Given the description of an element on the screen output the (x, y) to click on. 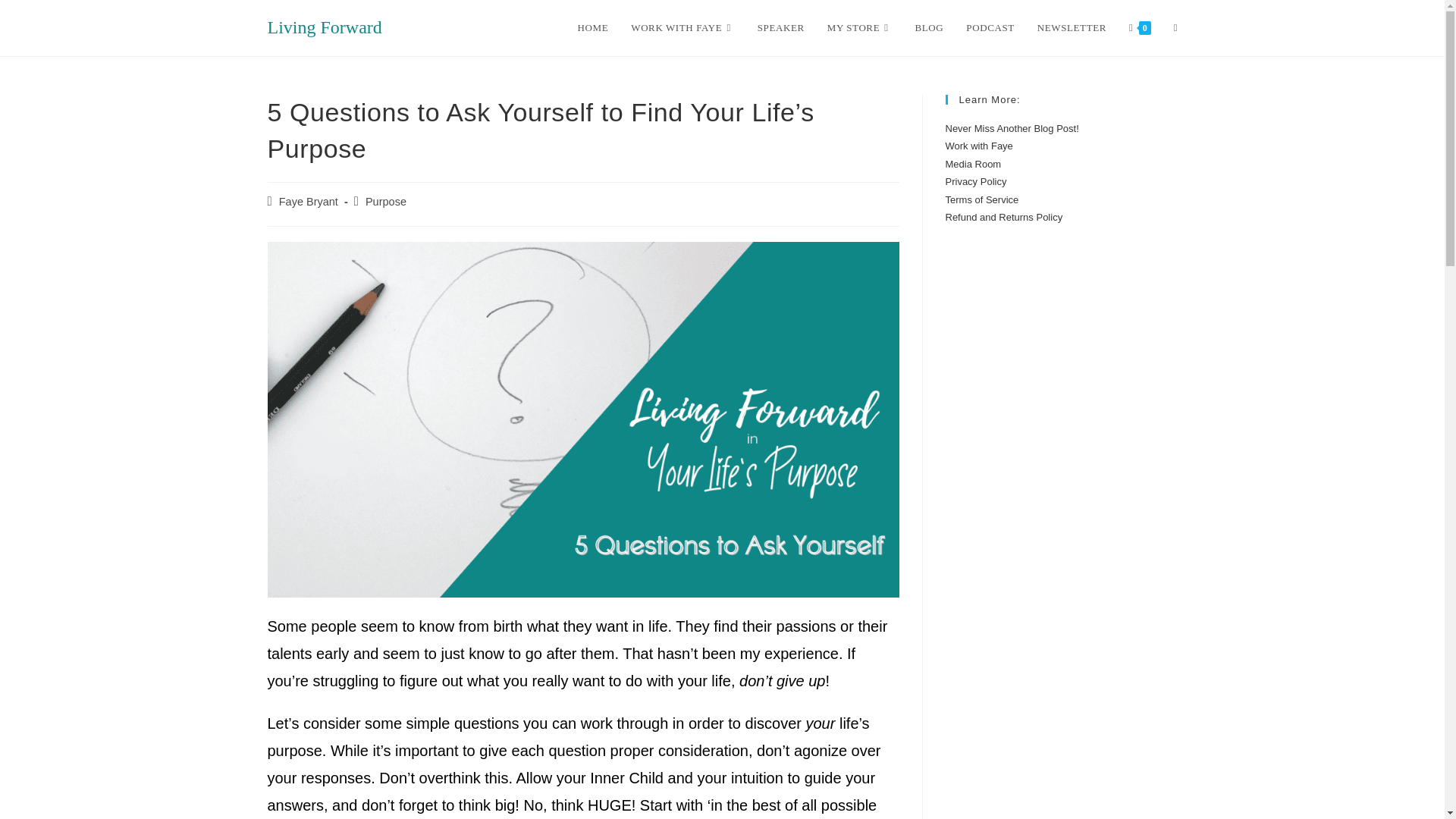
MY STORE (859, 28)
HOME (593, 28)
Faye Bryant (308, 201)
WORK WITH FAYE (682, 28)
SPEAKER (780, 28)
NEWSLETTER (1072, 28)
Posts by Faye Bryant (308, 201)
Purpose (385, 201)
Living Forward (323, 26)
PODCAST (990, 28)
BLOG (929, 28)
